Given the description of an element on the screen output the (x, y) to click on. 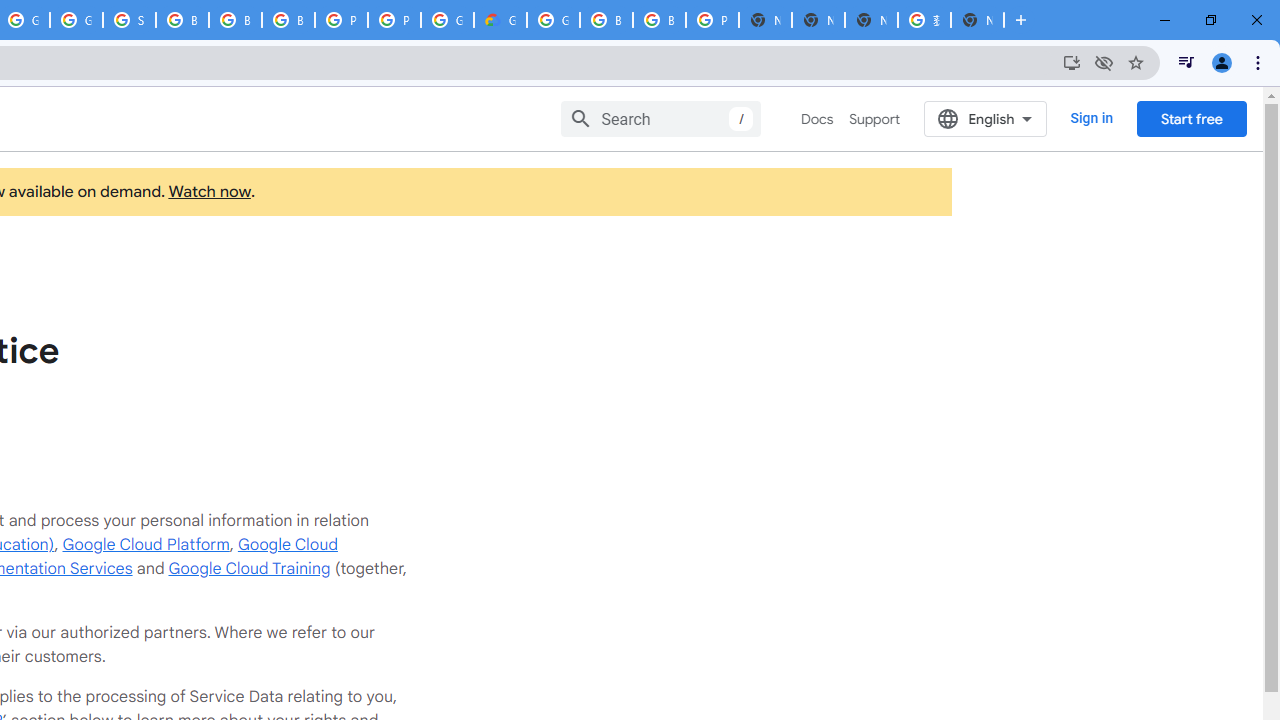
Start free (1191, 118)
Browse Chrome as a guest - Computer - Google Chrome Help (235, 20)
Support (874, 119)
Browse Chrome as a guest - Computer - Google Chrome Help (182, 20)
Google Cloud Estimate Summary (500, 20)
New Tab (765, 20)
Browse Chrome as a guest - Computer - Google Chrome Help (288, 20)
Sign in - Google Accounts (129, 20)
Browse Chrome as a guest - Computer - Google Chrome Help (606, 20)
Google Cloud Platform (447, 20)
